Given the description of an element on the screen output the (x, y) to click on. 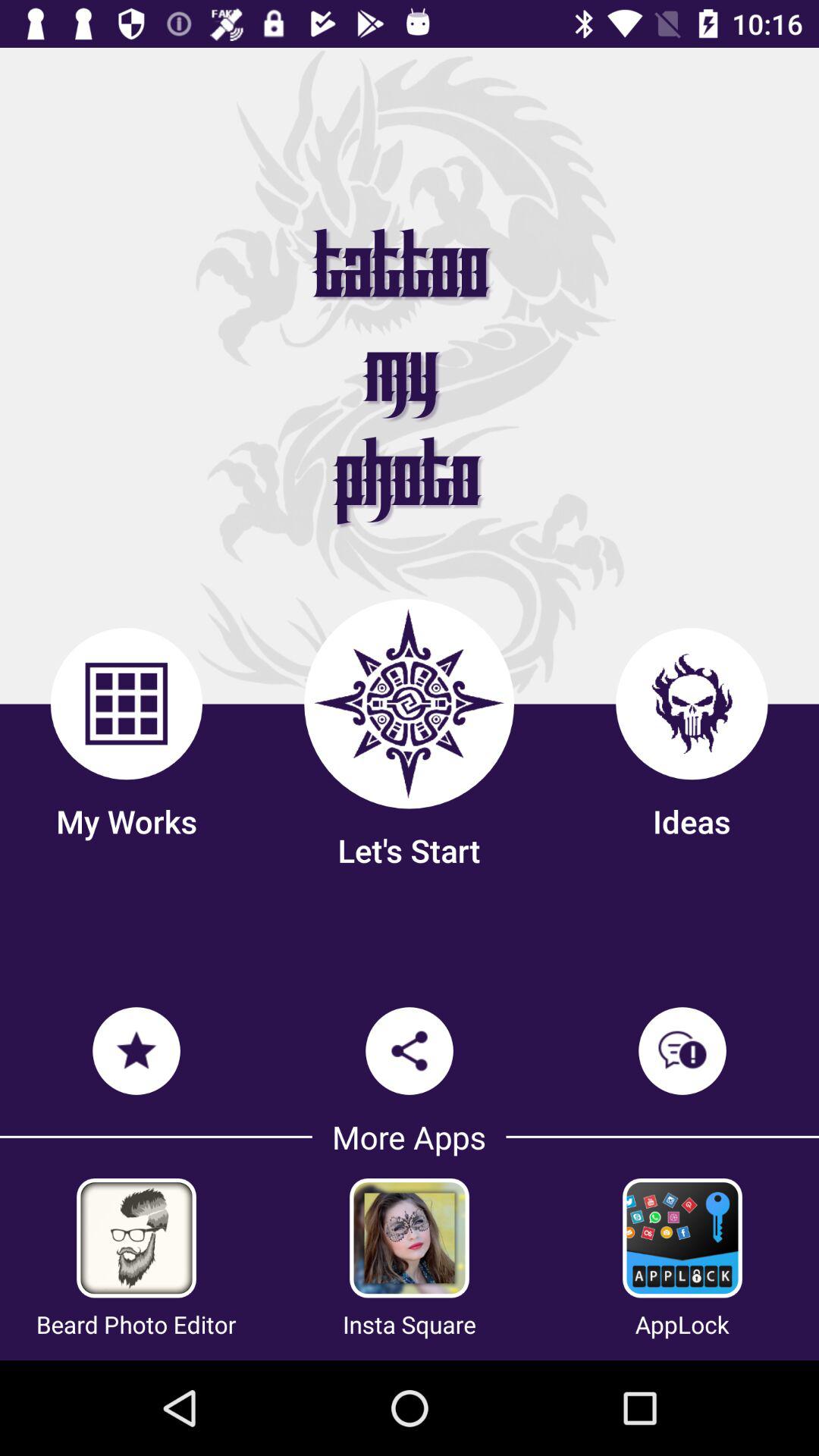
options (136, 1237)
